Given the description of an element on the screen output the (x, y) to click on. 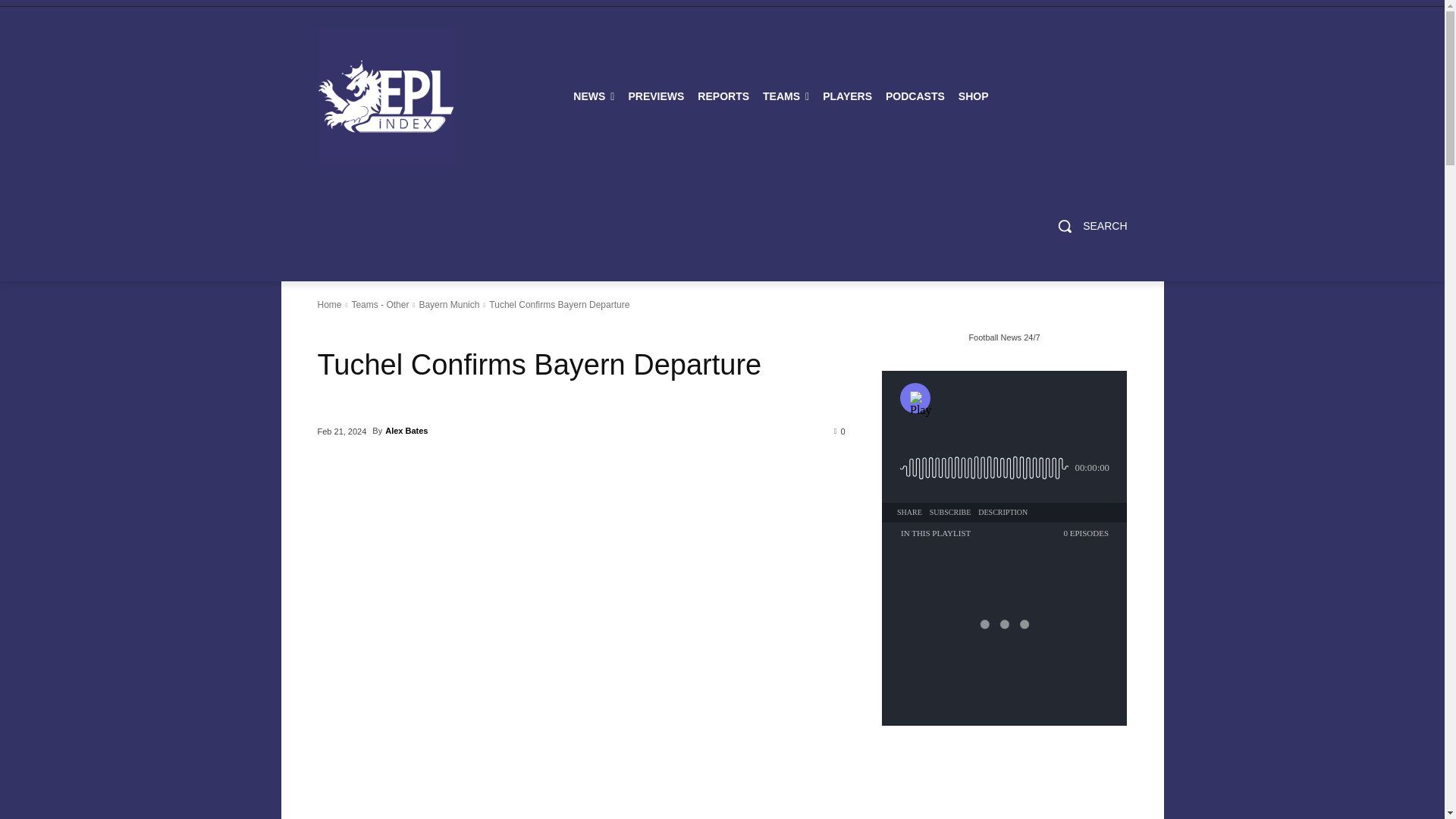
EPL Match Reports (722, 95)
NEWS (593, 95)
TEAMS (785, 95)
Home (328, 304)
Alex Bates (406, 430)
EPL Index (384, 95)
0 (839, 429)
SHOP (973, 95)
EPL Team Analysis (785, 95)
PLAYERS (847, 95)
